Given the description of an element on the screen output the (x, y) to click on. 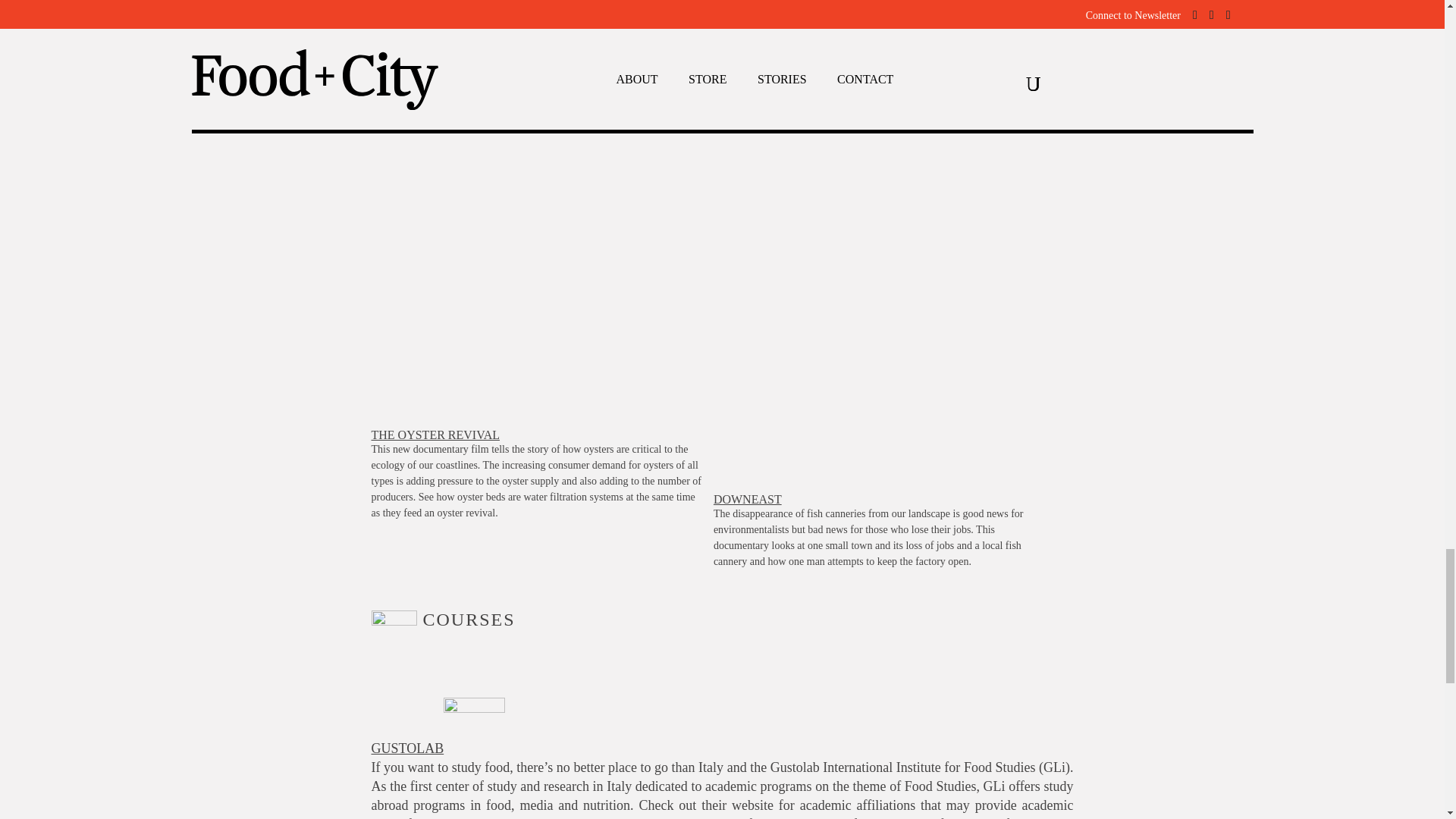
GUSTOLAB (407, 748)
DOWNEAST (747, 499)
THE OYSTER REVIVAL (435, 434)
